Given the description of an element on the screen output the (x, y) to click on. 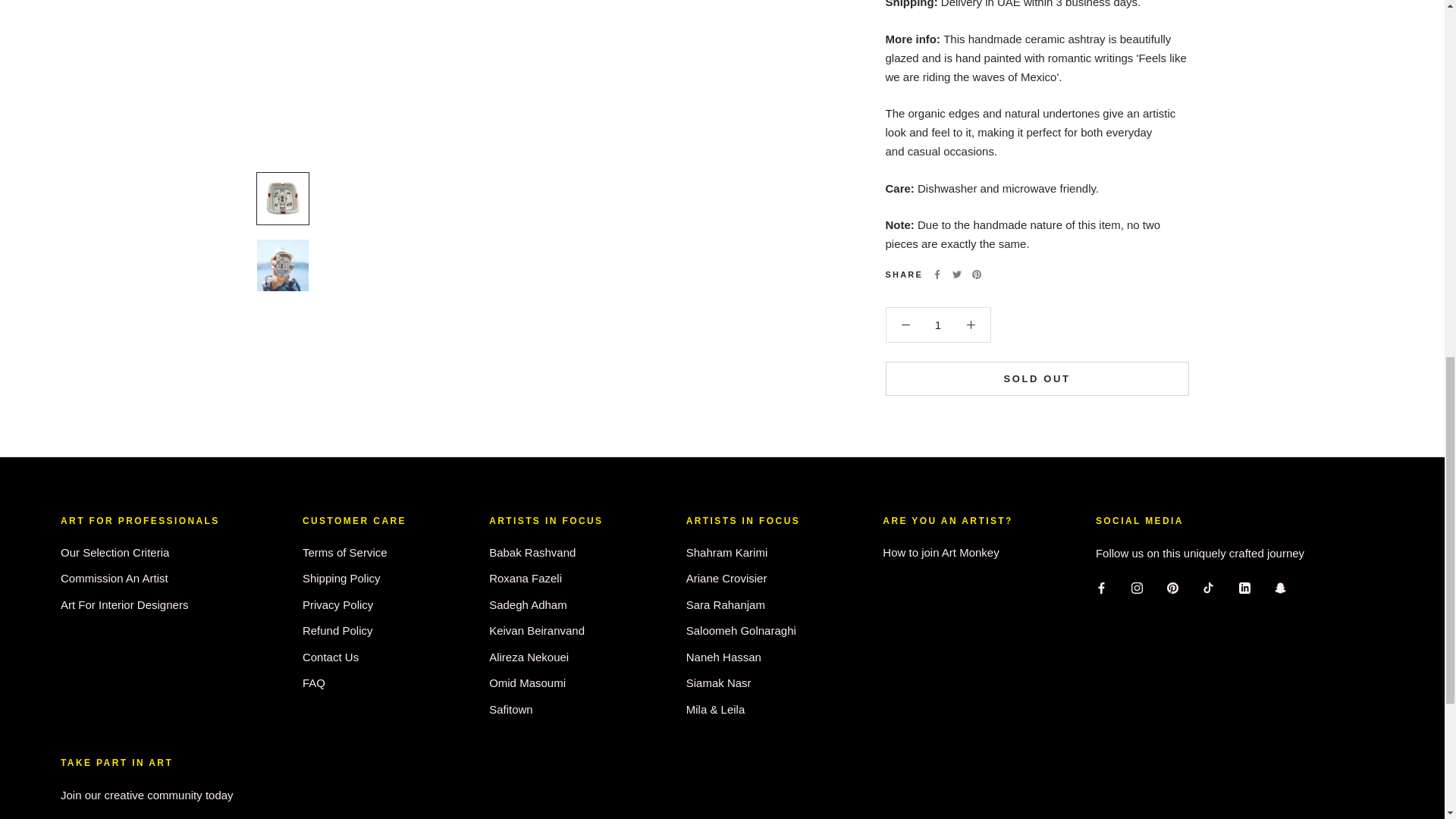
1 (938, 75)
